Given the description of an element on the screen output the (x, y) to click on. 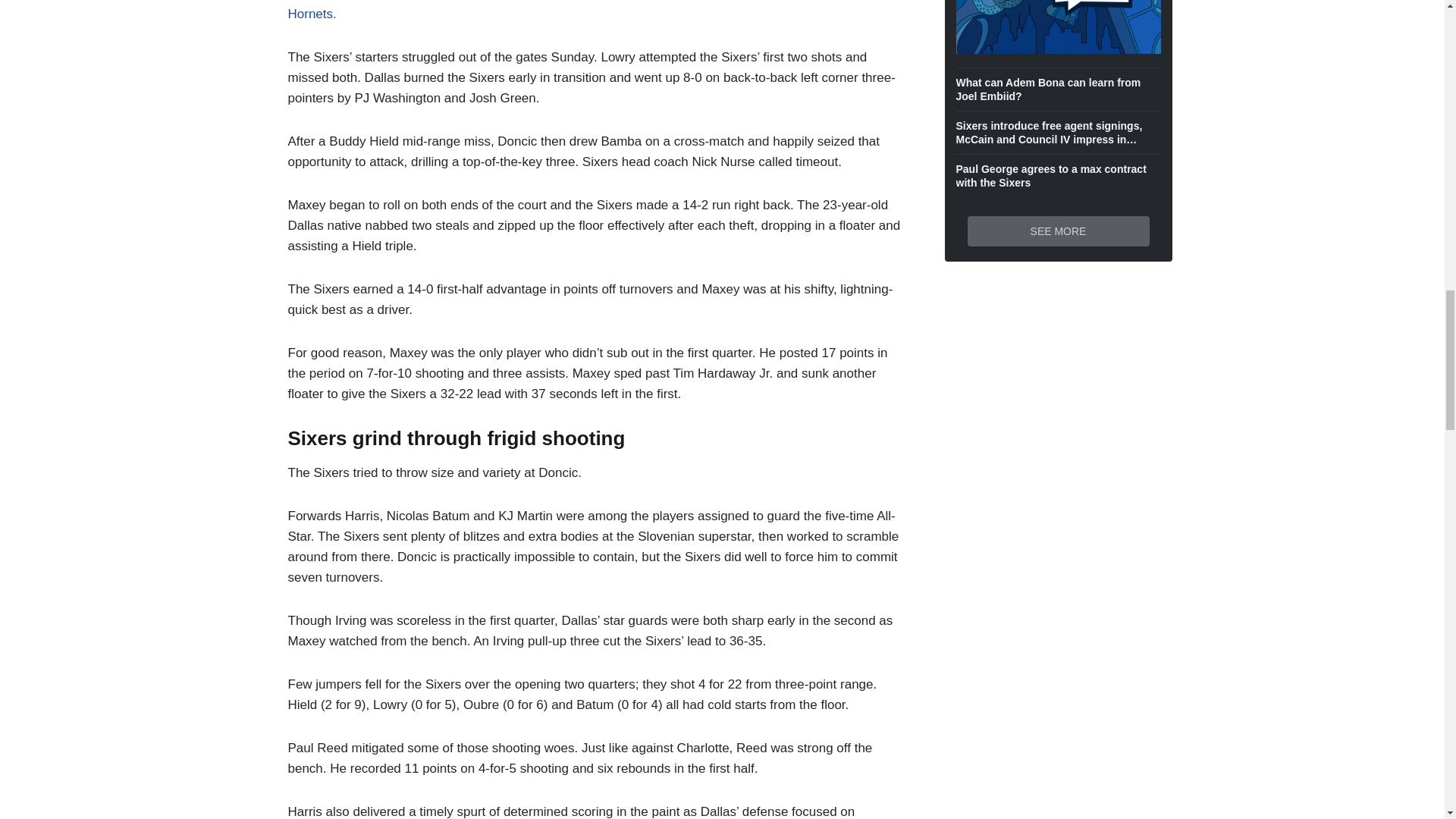
Friday night victory over the Hornets. (584, 10)
